Given the description of an element on the screen output the (x, y) to click on. 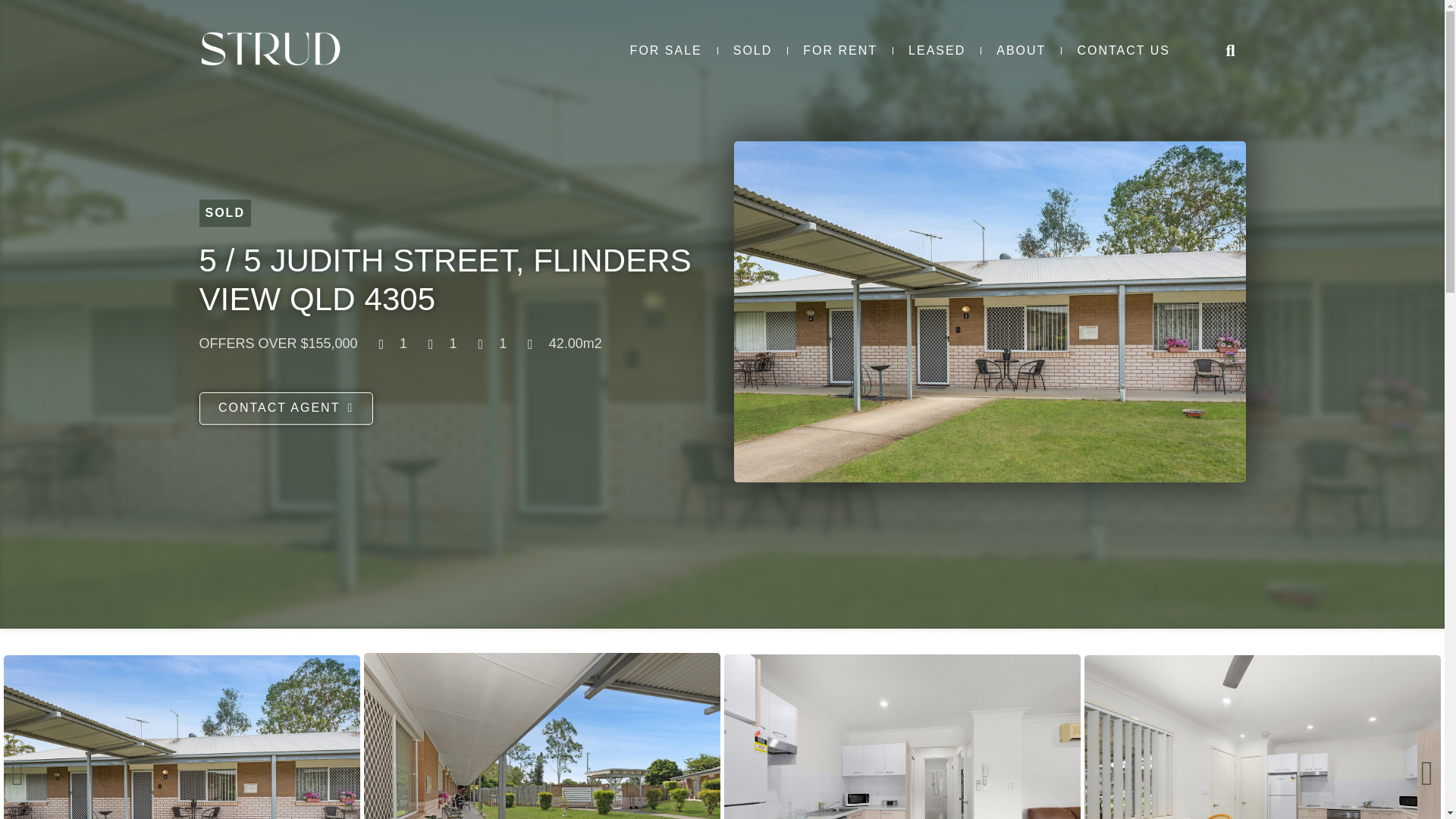
LEASED (936, 50)
FOR SALE (665, 50)
ABOUT (1021, 50)
CONTACT US (1123, 50)
FOR RENT (839, 50)
CONTACT AGENT (285, 409)
SOLD (752, 50)
